Given the description of an element on the screen output the (x, y) to click on. 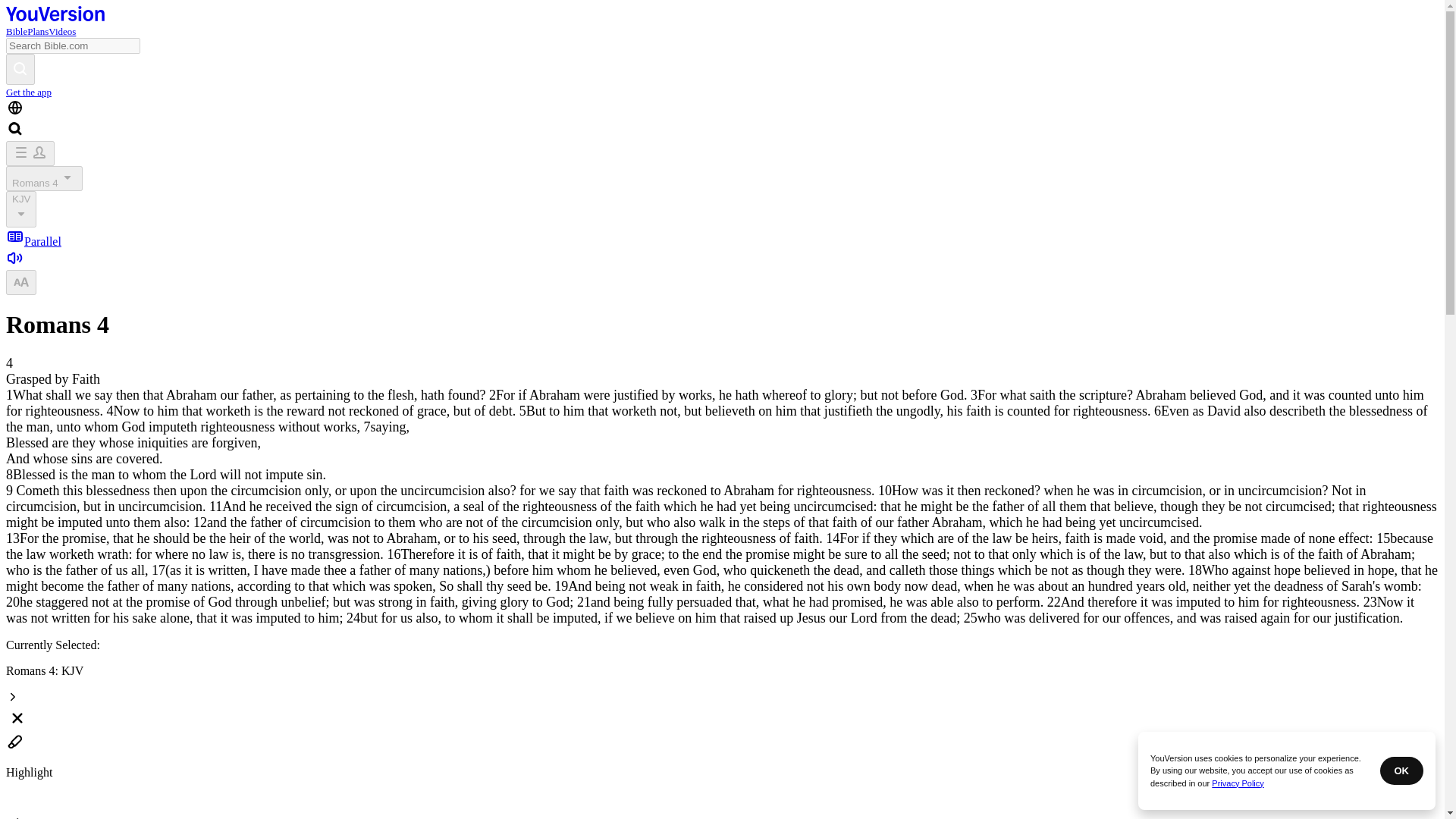
YouVersion Logo (54, 13)
Search (20, 67)
Videos (61, 30)
Bible (16, 30)
Get the app (27, 91)
Search Icon (14, 128)
Parallel (33, 241)
Plans (37, 30)
READER SETTINGS (20, 282)
READER SETTINGS (20, 280)
Search (19, 69)
Language Selector (14, 107)
YouVersion Logo (54, 16)
Romans 4 (43, 178)
